Given the description of an element on the screen output the (x, y) to click on. 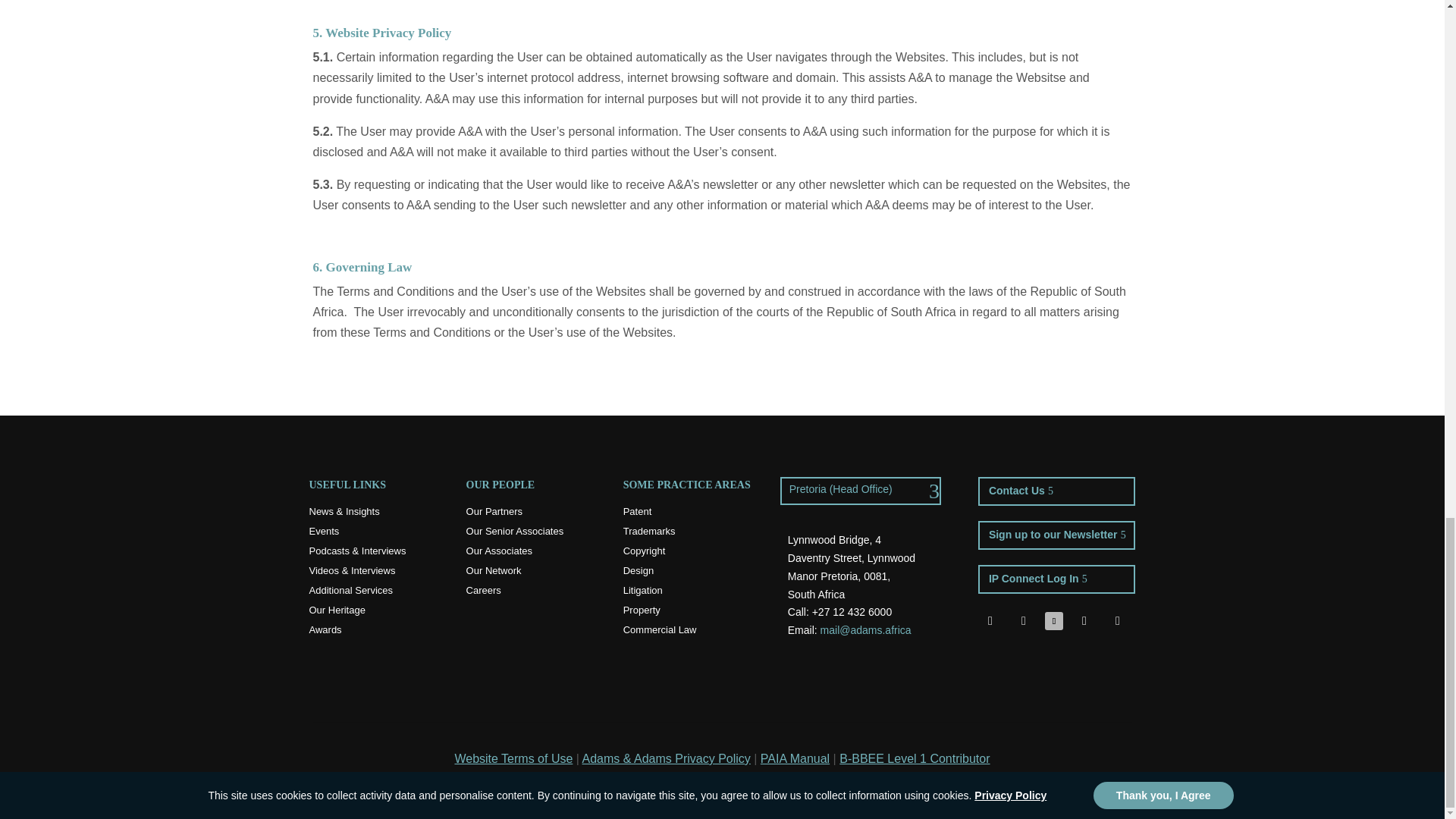
Follow on LinkedIn (1053, 620)
Follow on Facebook (990, 621)
Follow on X (1023, 621)
